Given the description of an element on the screen output the (x, y) to click on. 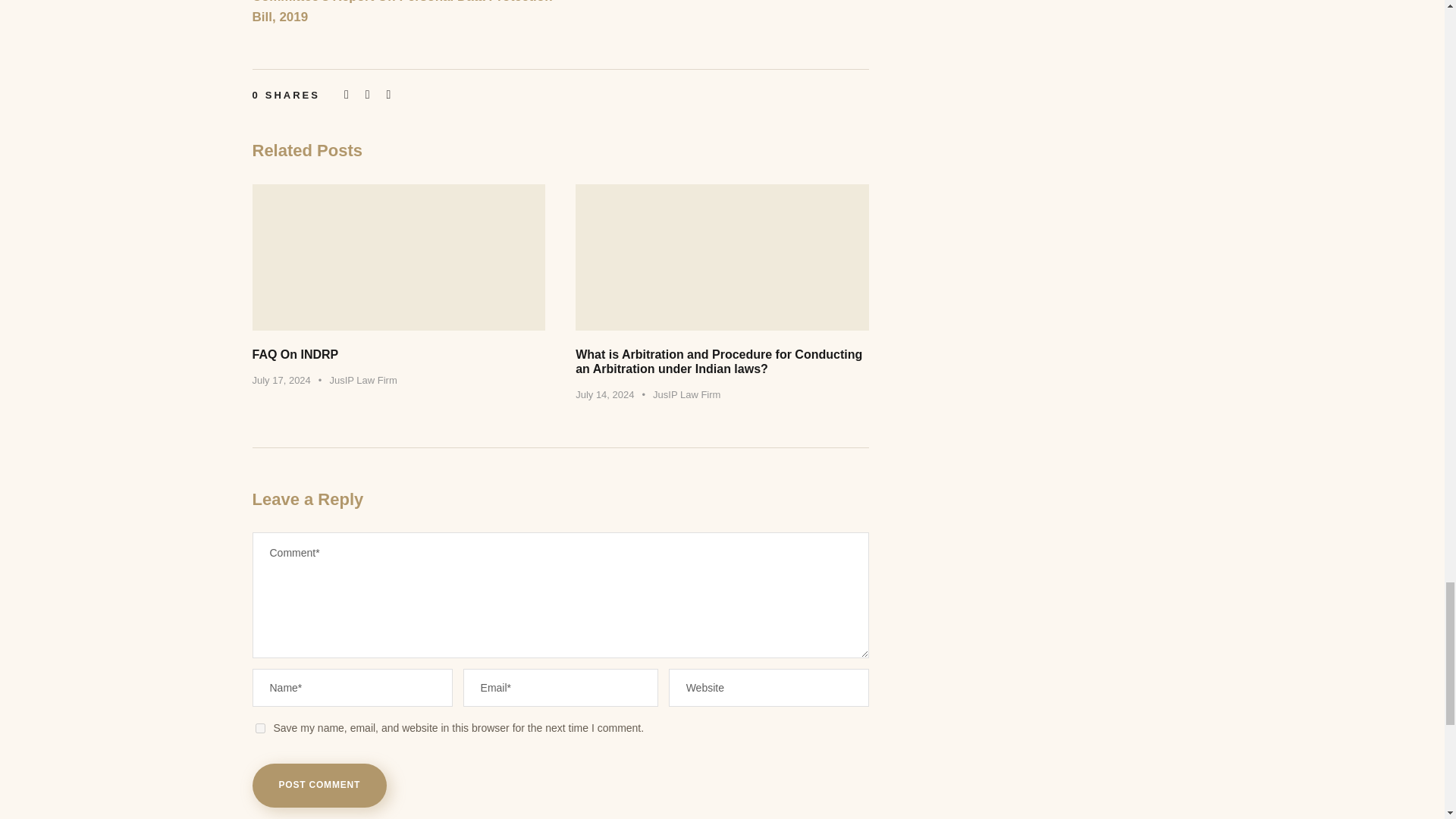
arbitration (722, 257)
Post Comment (319, 785)
Posts by JusIP Law Firm (362, 379)
Posts by JusIP Law Firm (686, 394)
yes (259, 728)
INDRP (397, 257)
